Given the description of an element on the screen output the (x, y) to click on. 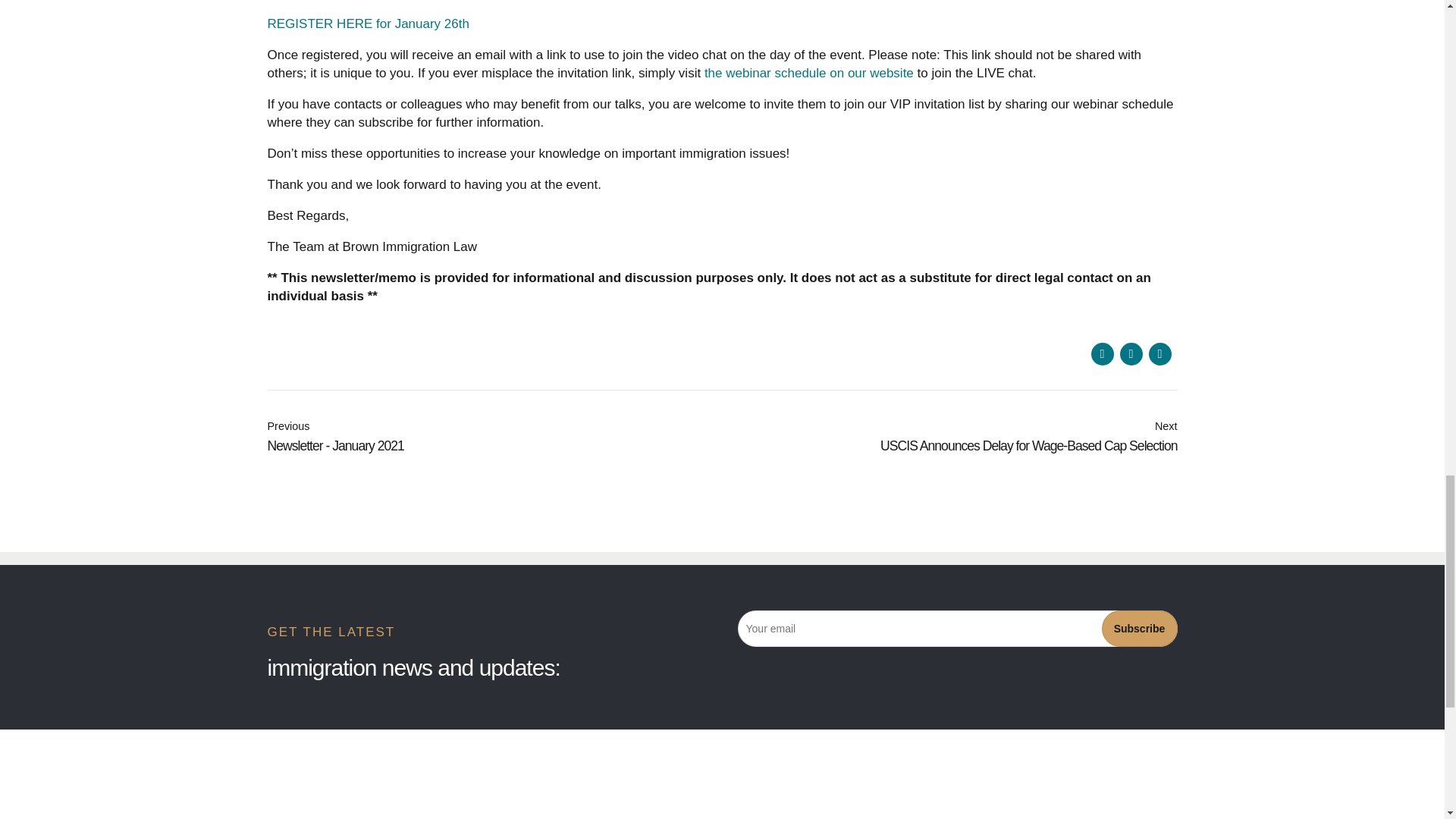
Share on Linkedin (1159, 354)
Share on Twitter (1130, 354)
REGISTER HERE for January 26th (367, 23)
Share on Facebook (494, 437)
the webinar schedule on our website  (949, 437)
Subscribe (1101, 354)
